Given the description of an element on the screen output the (x, y) to click on. 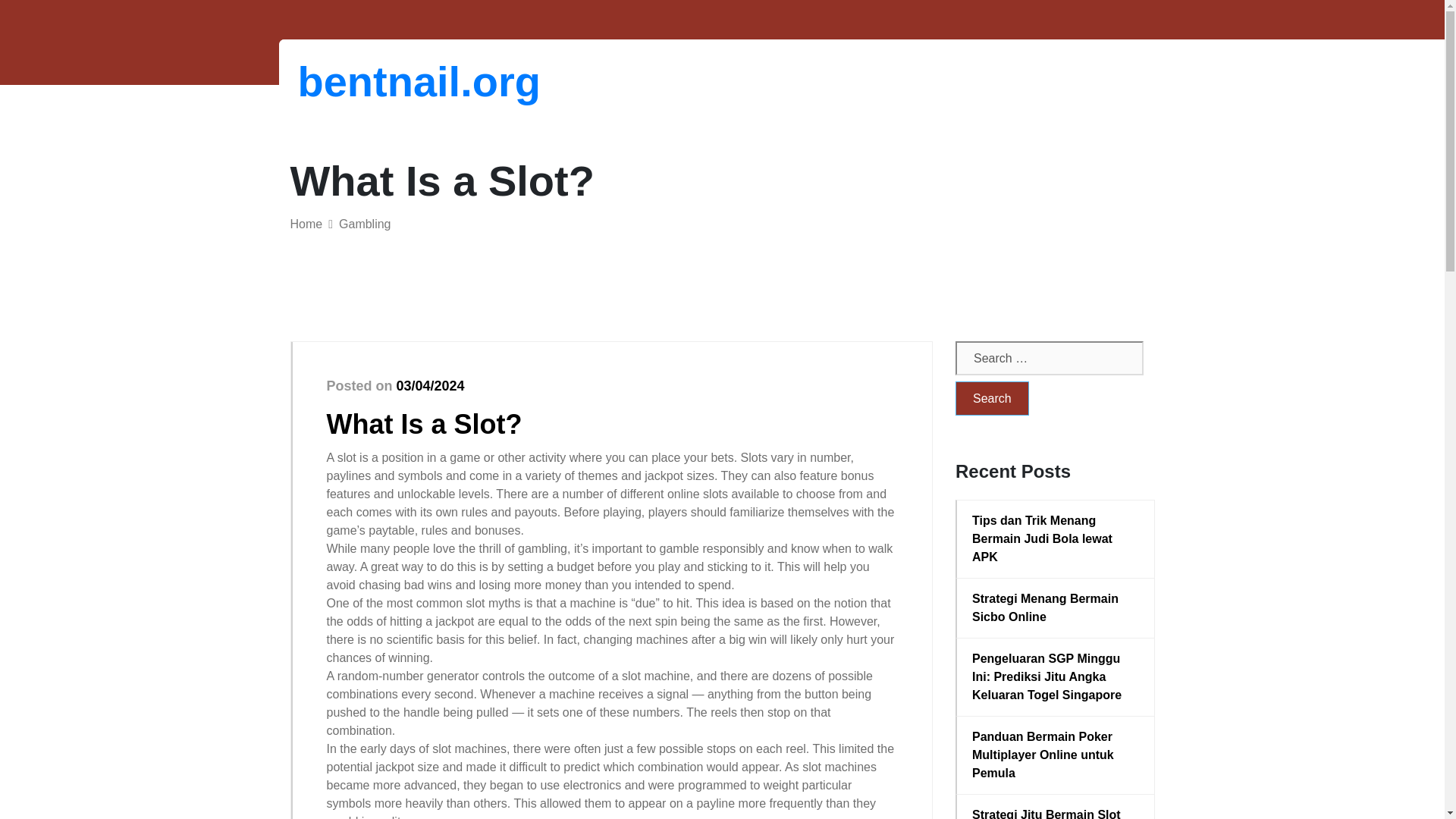
Search (992, 398)
Panduan Bermain Poker Multiplayer Online untuk Pemula (1055, 755)
Tips dan Trik Menang Bermain Judi Bola lewat APK (1055, 538)
Search (992, 398)
What Is a Slot? (423, 423)
Search (992, 398)
Strategi Menang Bermain Sicbo Online (1055, 607)
Gambling (364, 223)
bentnail.org (376, 81)
